Given the description of an element on the screen output the (x, y) to click on. 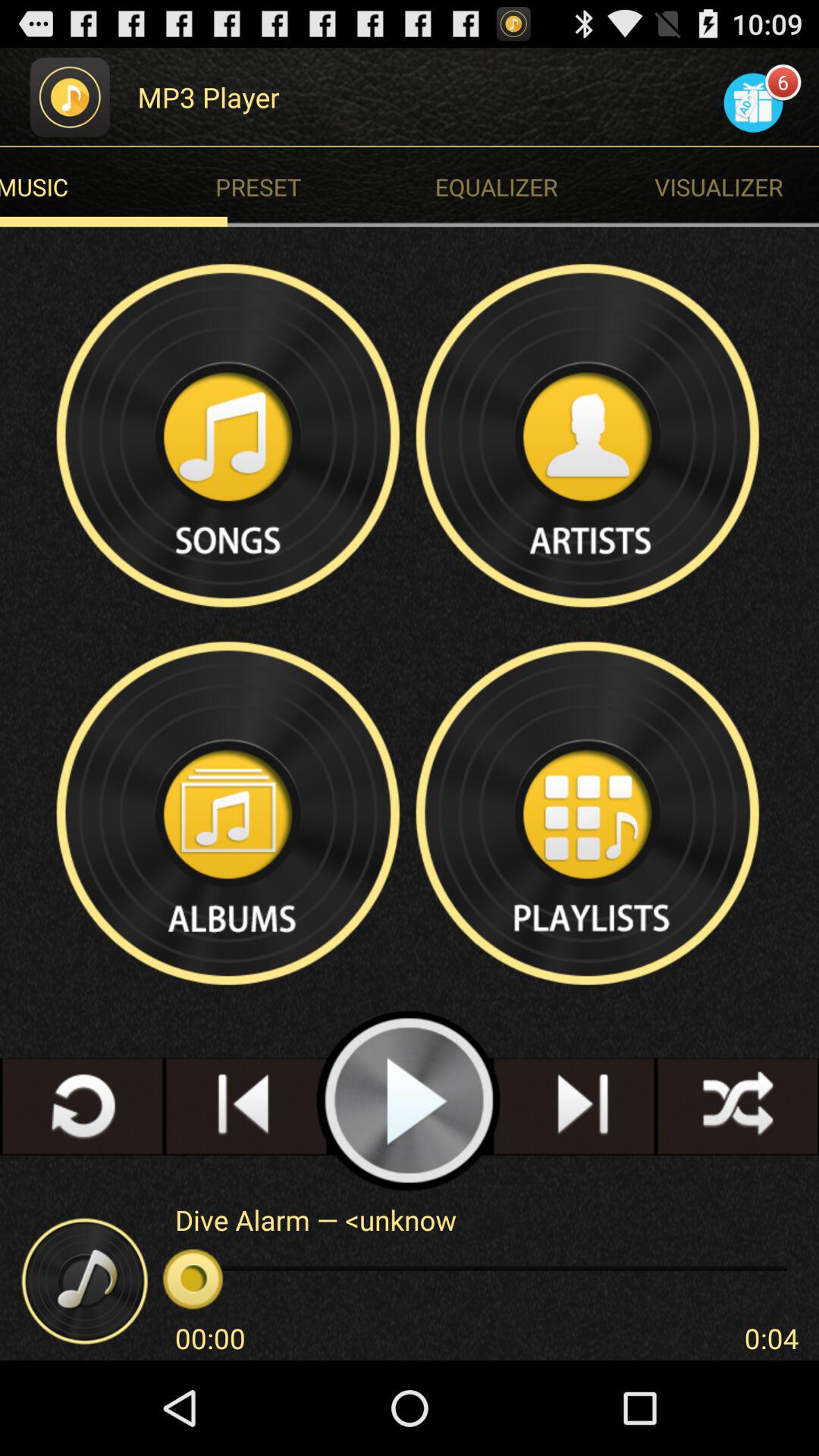
play the music (408, 1101)
